Given the description of an element on the screen output the (x, y) to click on. 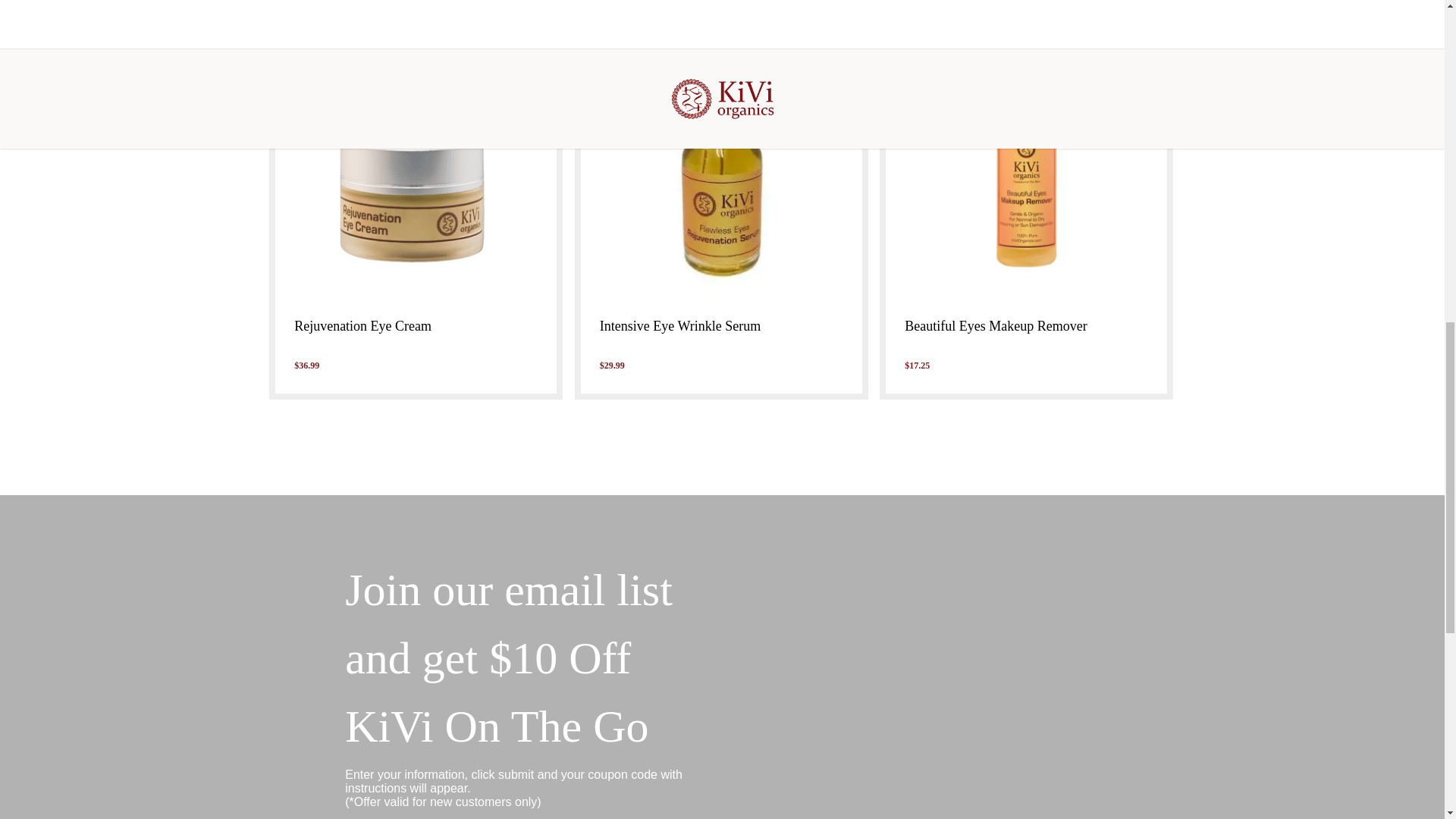
Rejuvenation Eye Cream (415, 326)
Beautiful Eyes Makeup Remover (1026, 326)
Intensive Eye Wrinkle Serum (721, 326)
